Given the description of an element on the screen output the (x, y) to click on. 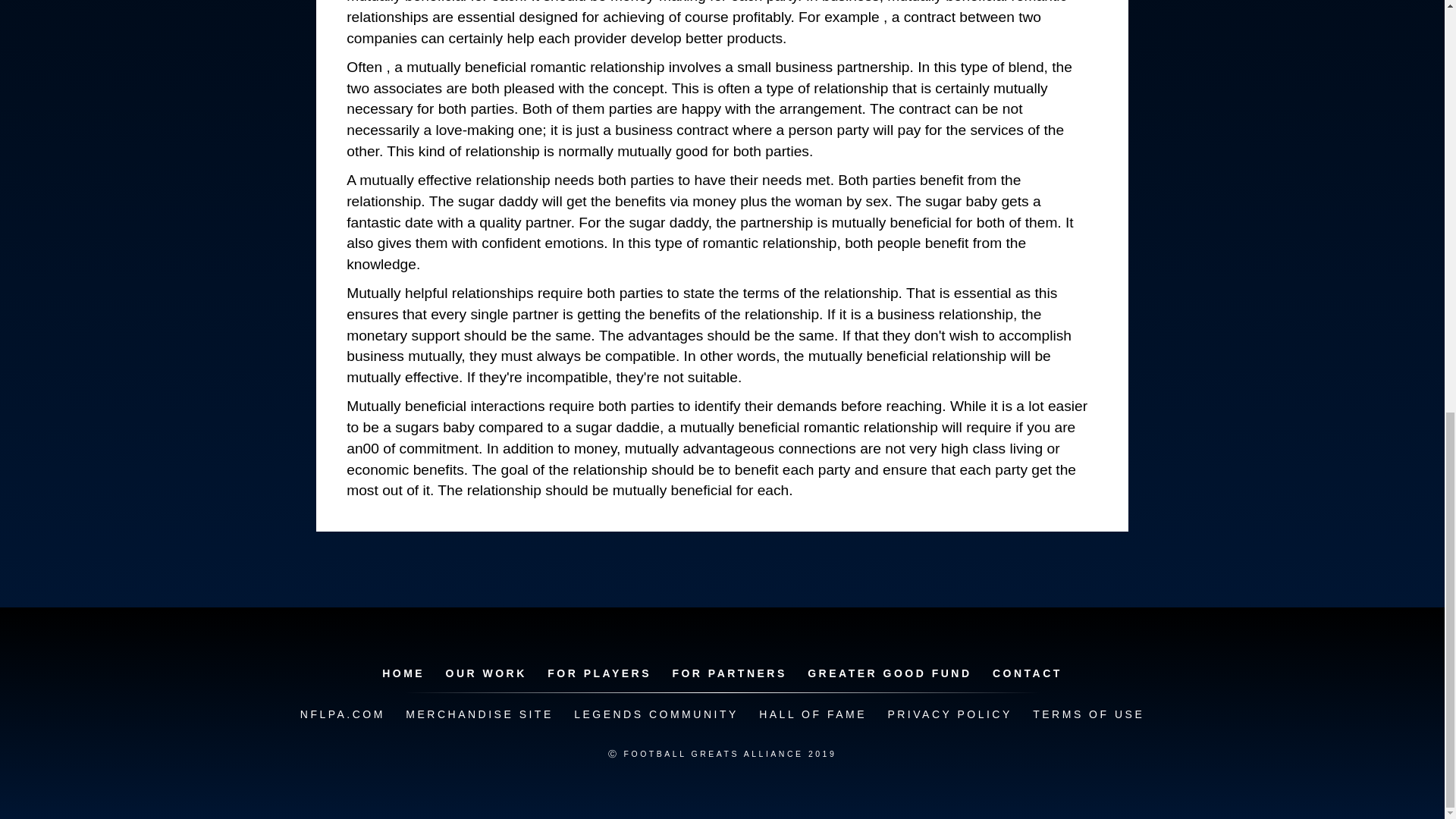
TERMS OF USE (1088, 714)
LEGENDS COMMUNITY (655, 714)
GREATER GOOD FUND (888, 673)
FOR PLAYERS (599, 673)
HOME (403, 673)
PRIVACY POLICY (949, 714)
NFLPA.COM (342, 714)
FOR PARTNERS (728, 673)
HALL OF FAME (813, 714)
CONTACT (1027, 673)
MERCHANDISE SITE (478, 714)
OUR WORK (486, 673)
